Given the description of an element on the screen output the (x, y) to click on. 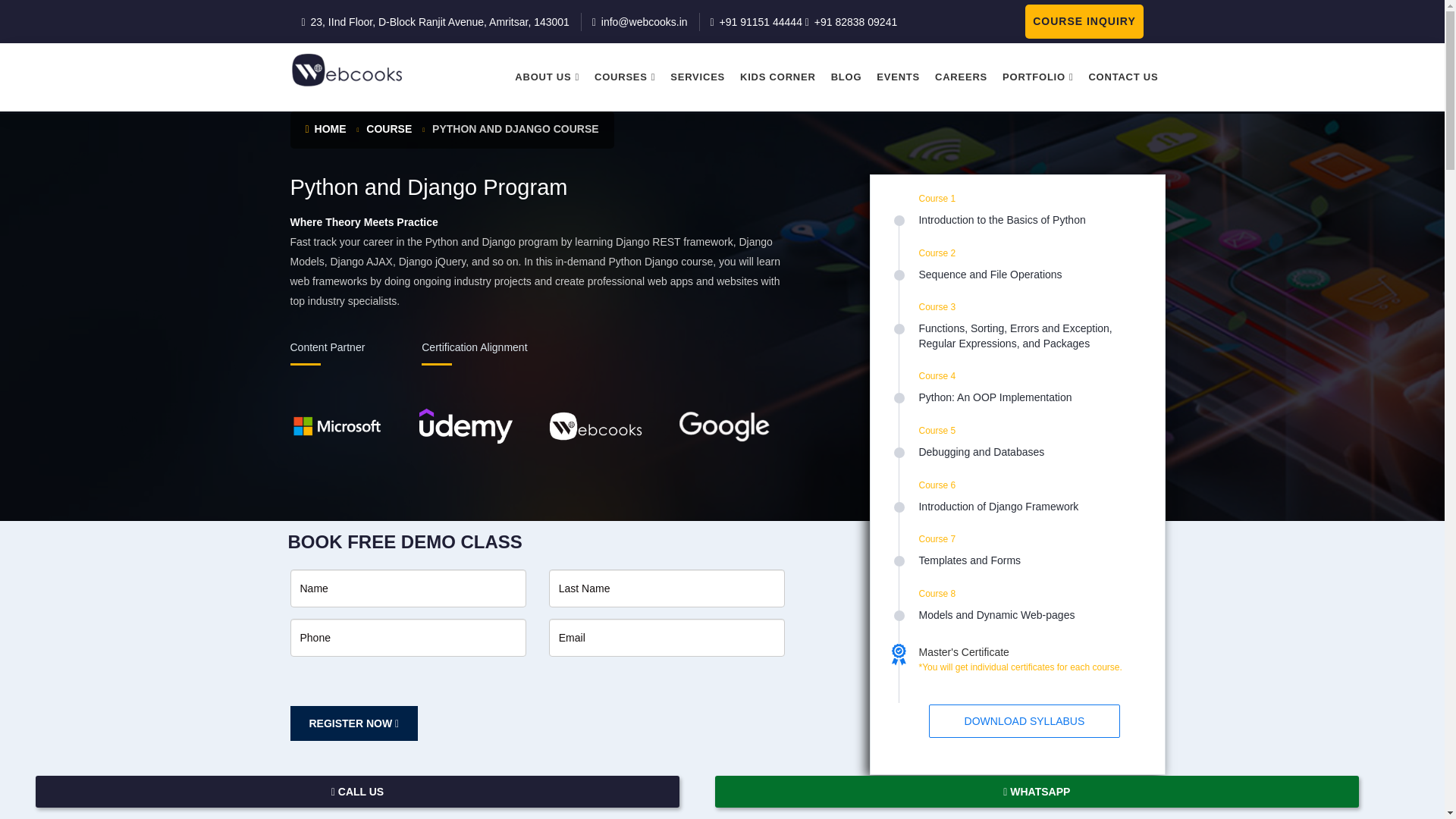
Python: An OOP Implementation (1029, 397)
CAREERS (960, 77)
COURSES (624, 77)
Templates and Forms (1029, 560)
KIDS CORNER (778, 77)
COURSE INQUIRY (1083, 21)
ABOUT US (546, 77)
COURSE (389, 128)
REGISTER NOW (353, 723)
Sequence and File Operations (1029, 274)
Introduction of Django Framework (1029, 507)
SERVICES (697, 77)
Debugging and Databases (1029, 452)
PORTFOLIO (1037, 77)
CONTACT US (1123, 77)
